Given the description of an element on the screen output the (x, y) to click on. 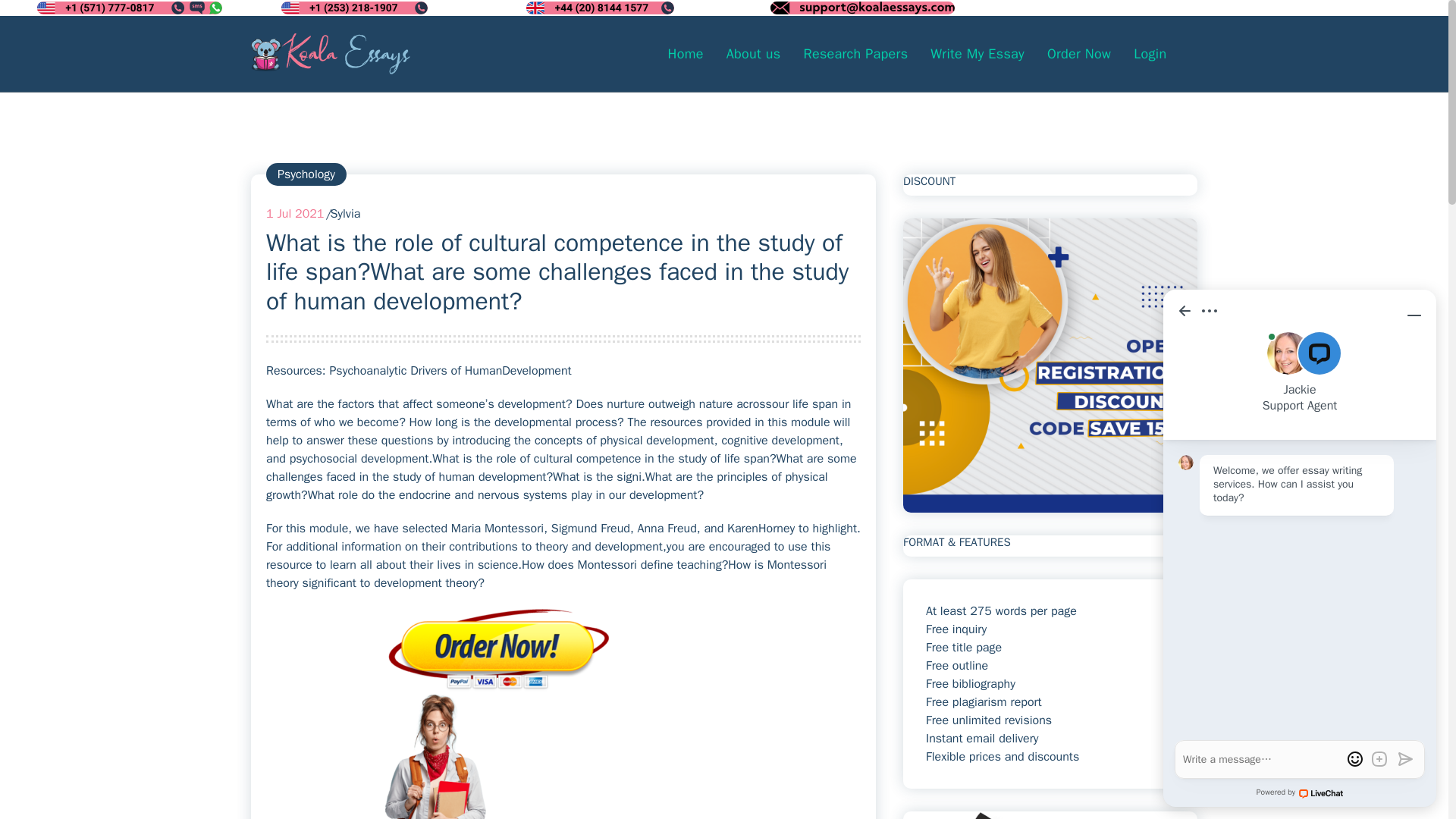
Research Papers (855, 53)
About us (753, 53)
Write My Essay (977, 53)
Order Now (1078, 53)
Research Papers (855, 53)
Login (1150, 53)
About us (753, 53)
Order Now (1078, 53)
Home (685, 53)
Sylvia (344, 213)
Sylvia (344, 213)
Home (685, 53)
Psychology (306, 174)
